Given the description of an element on the screen output the (x, y) to click on. 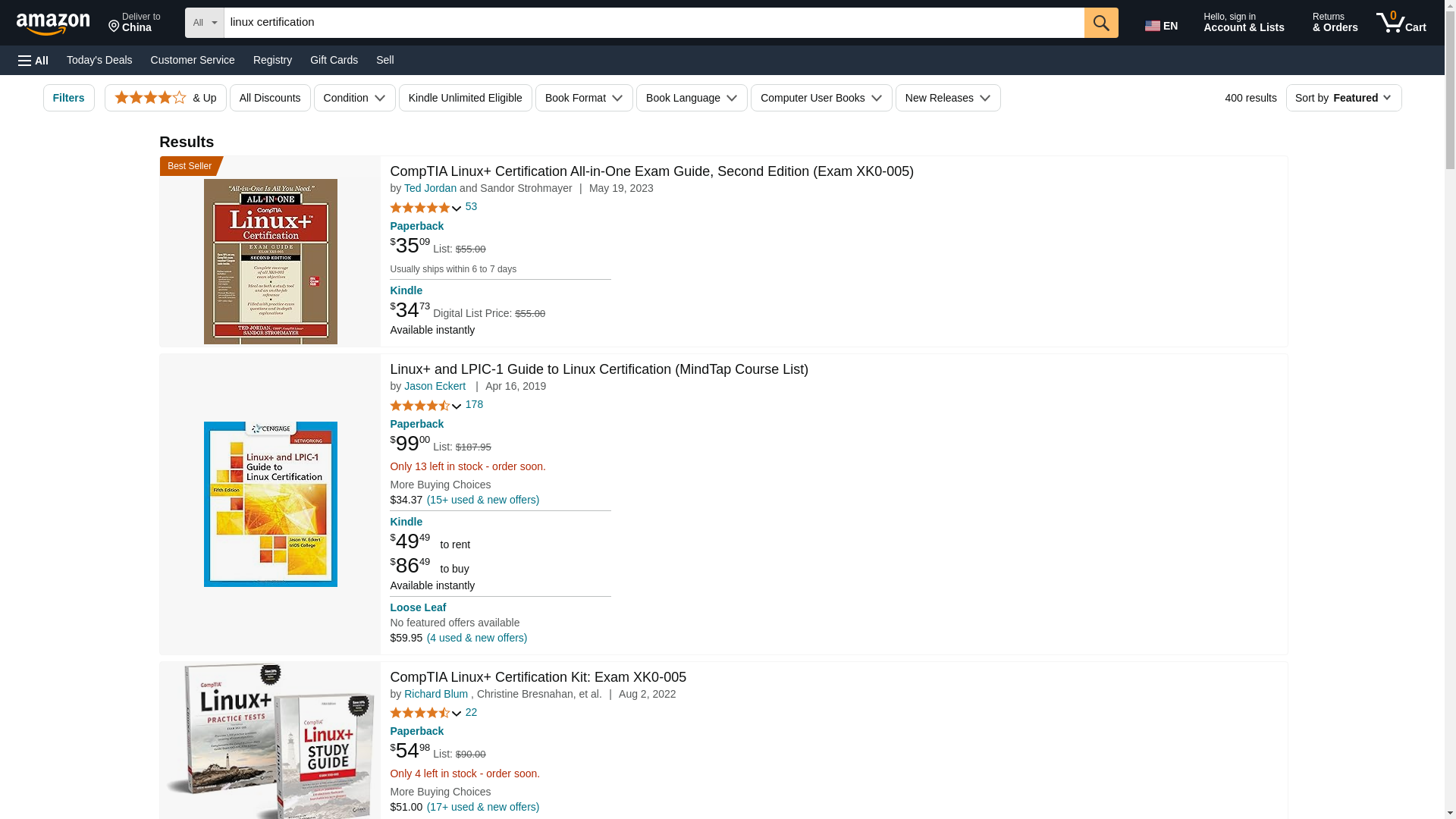
Sell (384, 59)
Customer Service (192, 59)
EN (1163, 22)
Kindle Unlimited Eligible (465, 97)
Filters (68, 97)
All Discounts (270, 97)
Gift Cards (333, 59)
linux certification (654, 22)
Registry (272, 59)
Today's Deals (99, 59)
